Given the description of an element on the screen output the (x, y) to click on. 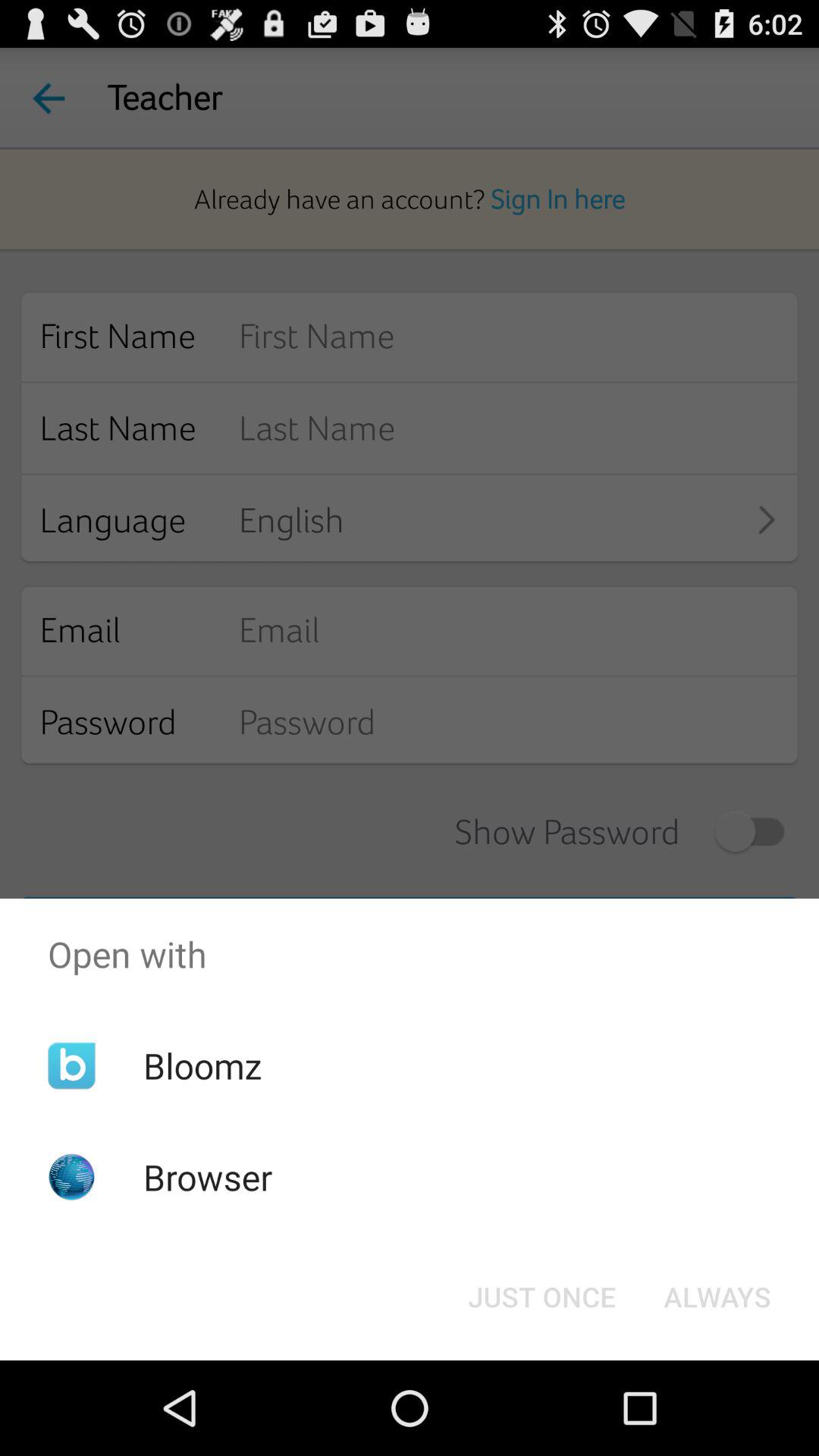
swipe until browser app (207, 1176)
